Given the description of an element on the screen output the (x, y) to click on. 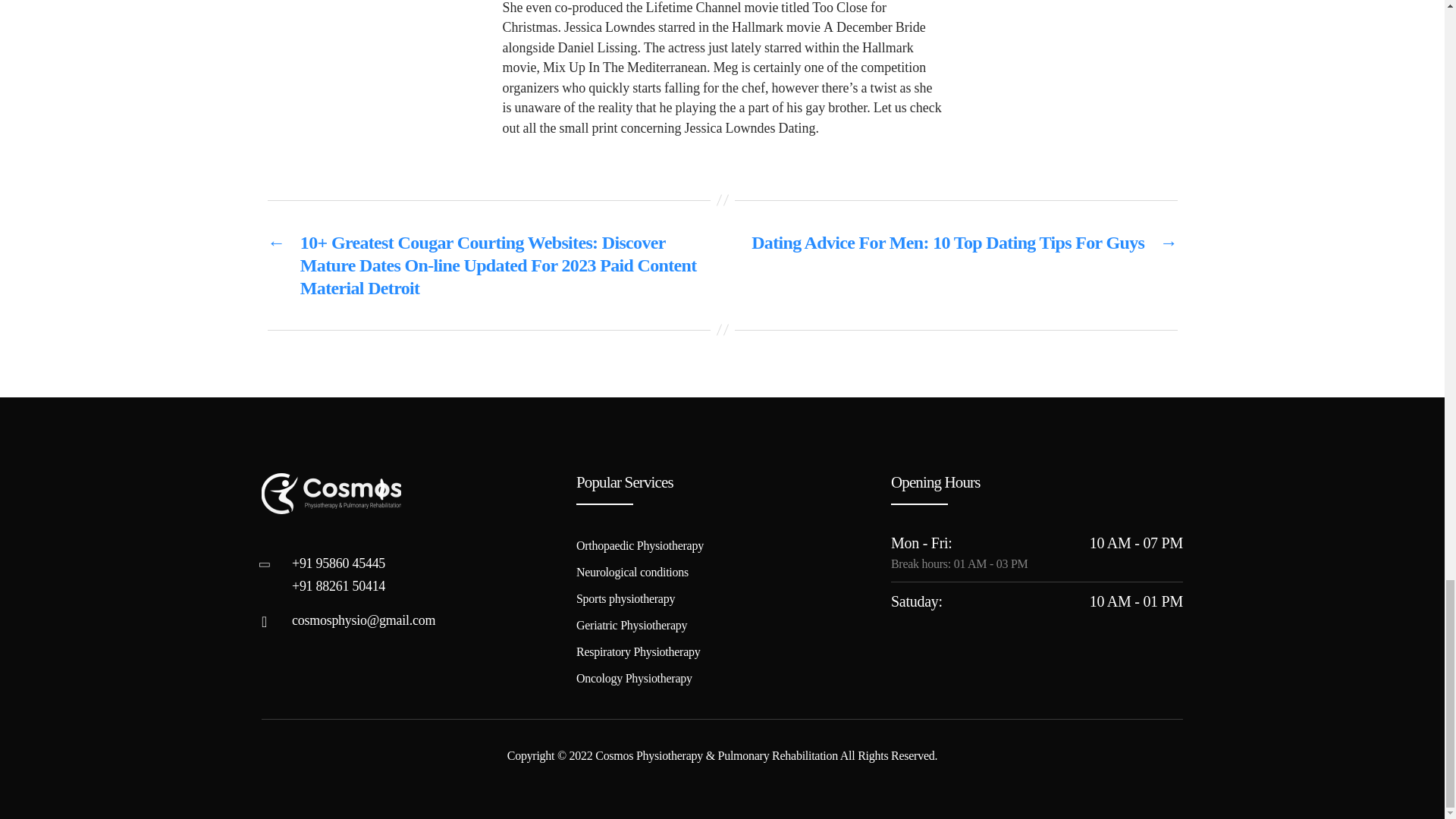
Neurological conditions (632, 571)
Geriatric Physiotherapy (631, 625)
Respiratory Physiotherapy (638, 651)
Sports physiotherapy (625, 598)
Orthopaedic Physiotherapy (639, 545)
Oncology Physiotherapy (634, 677)
